Given the description of an element on the screen output the (x, y) to click on. 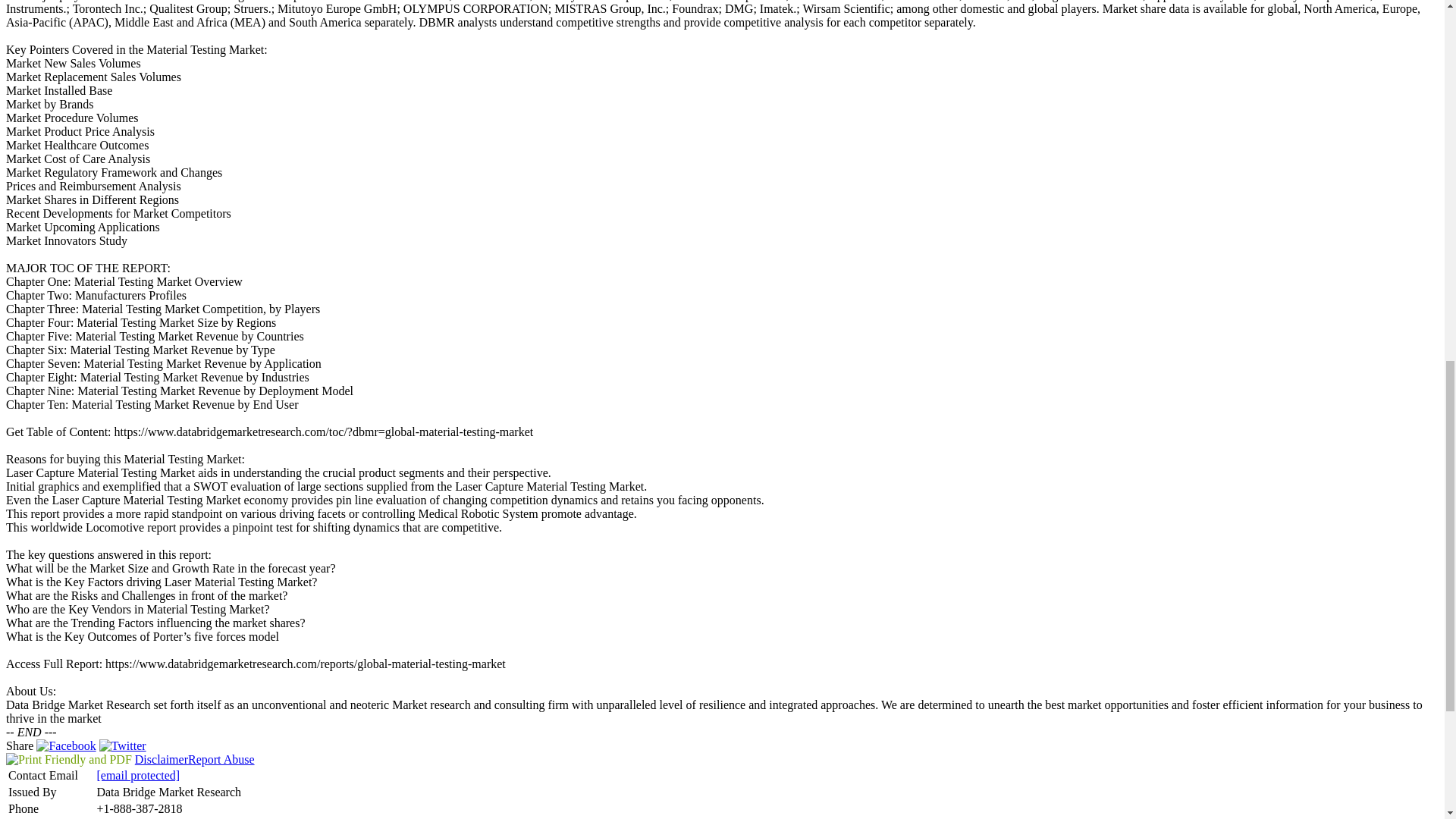
Report Abuse (220, 758)
Printer Friendly and PDF (68, 758)
Disclaimer (161, 758)
